Given the description of an element on the screen output the (x, y) to click on. 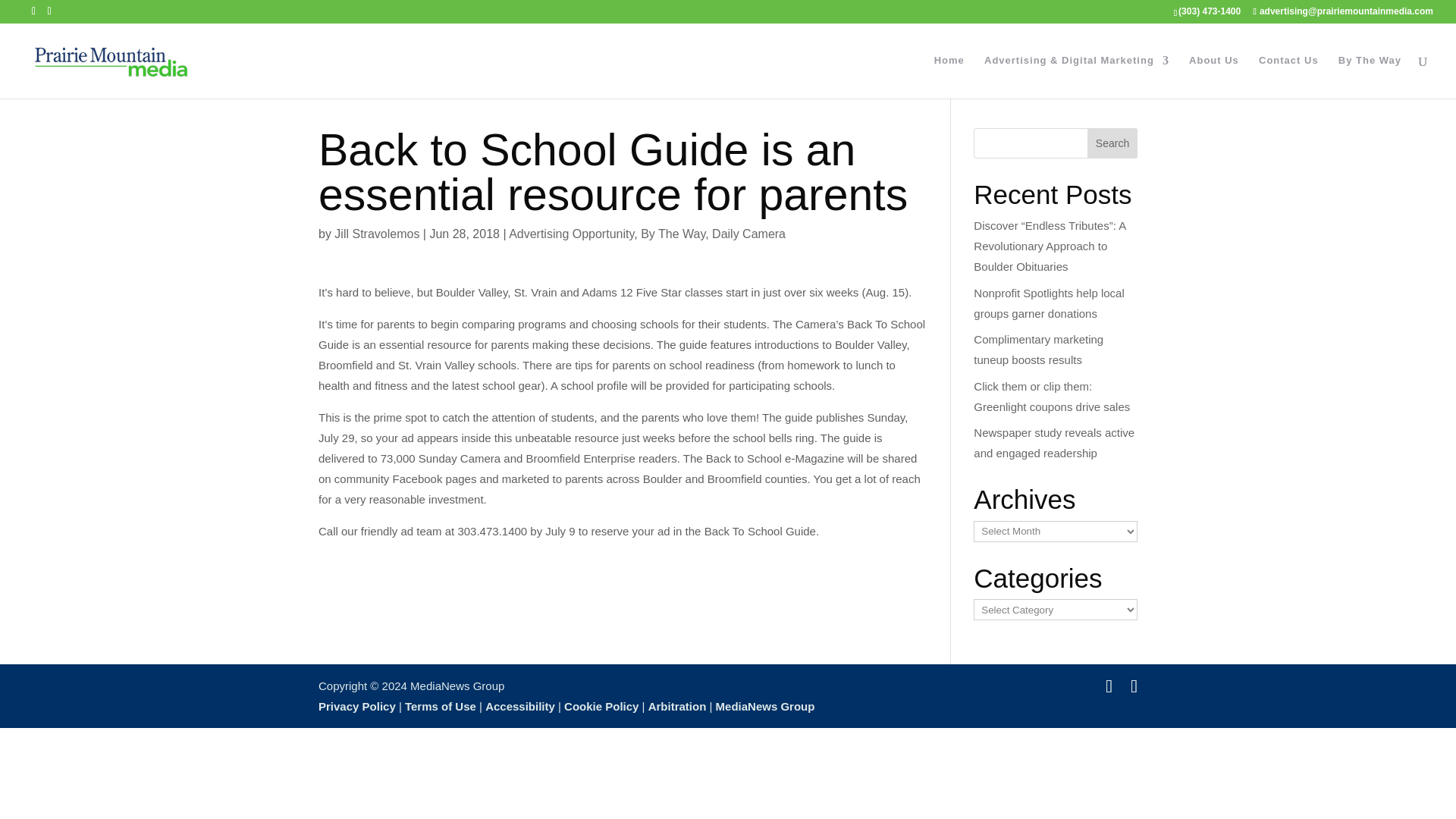
By The Way (672, 233)
About Us (1214, 76)
Contact Us (1289, 76)
Posts by Jill Stravolemos (376, 233)
Advertising Opportunity (570, 233)
Nonprofit Spotlights help local groups garner donations (1049, 303)
Complimentary marketing tuneup boosts results (1038, 349)
By The Way (1369, 76)
Click them or clip them: Greenlight coupons drive sales (1051, 395)
Daily Camera (748, 233)
